Given the description of an element on the screen output the (x, y) to click on. 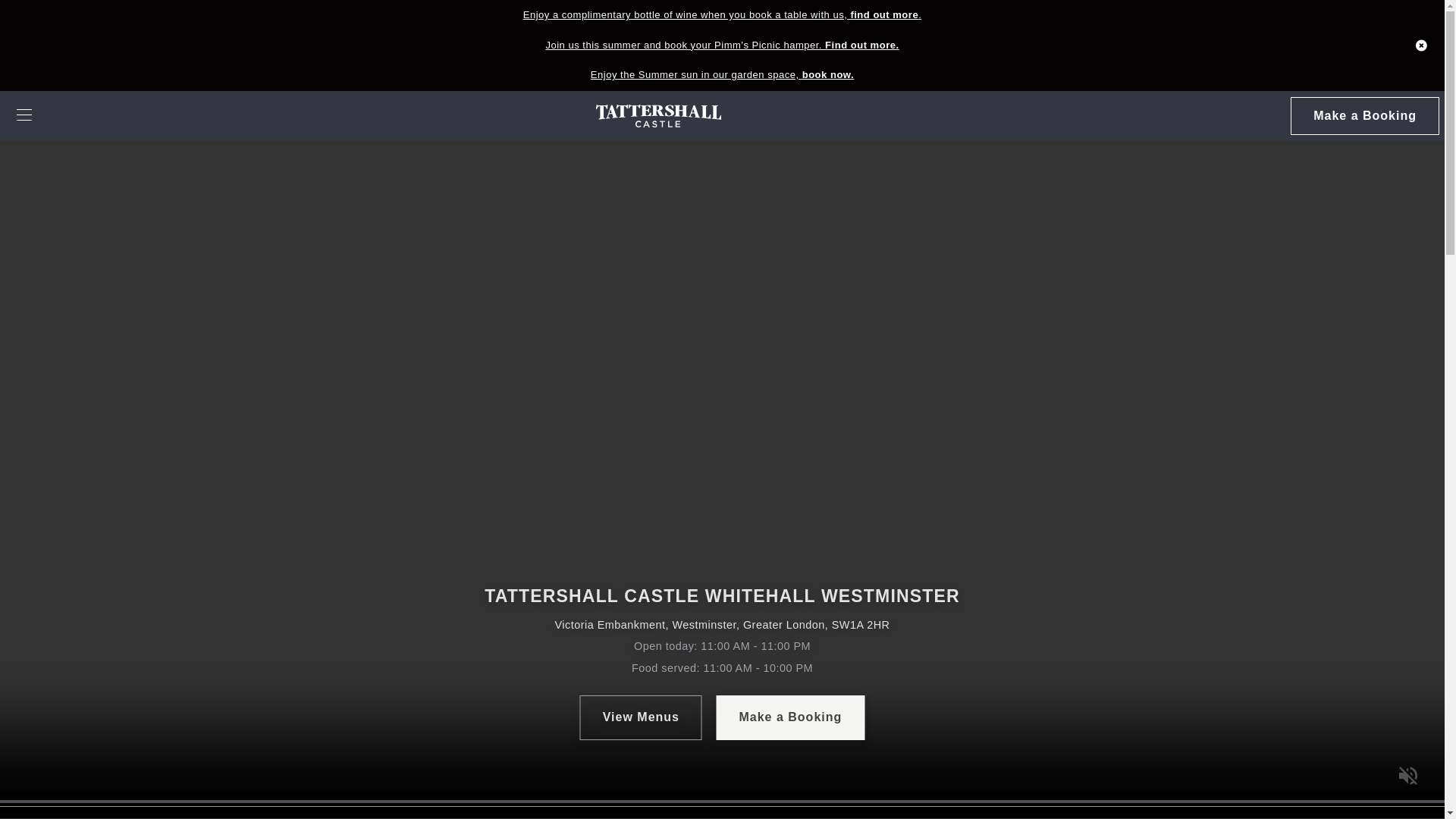
Enjoy the Summer sun in our garden space, book now. (721, 75)
Make a Booking (1364, 116)
Tattershall Castle Whitehall (657, 115)
